Given the description of an element on the screen output the (x, y) to click on. 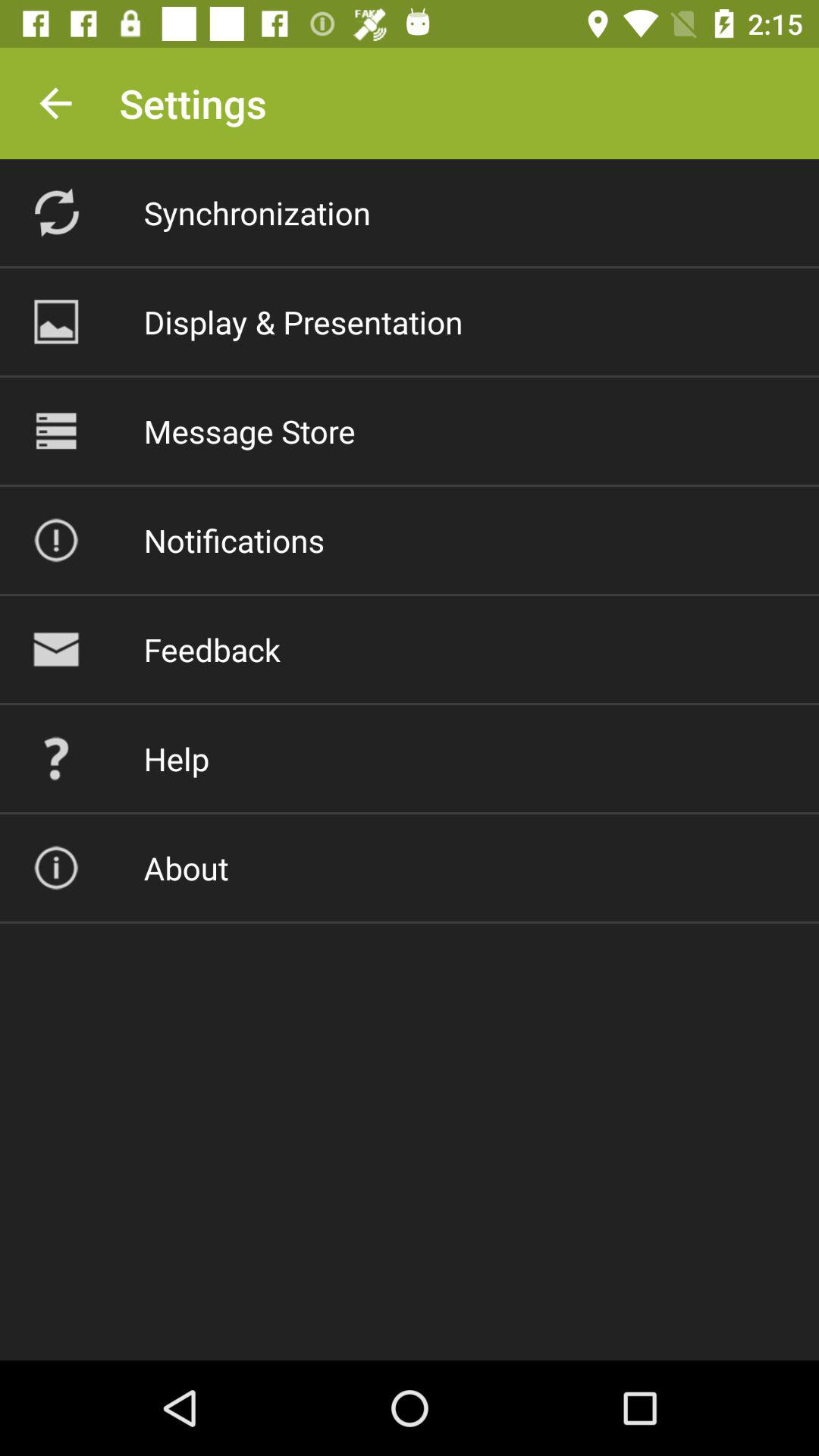
click app below the settings item (256, 212)
